Given the description of an element on the screen output the (x, y) to click on. 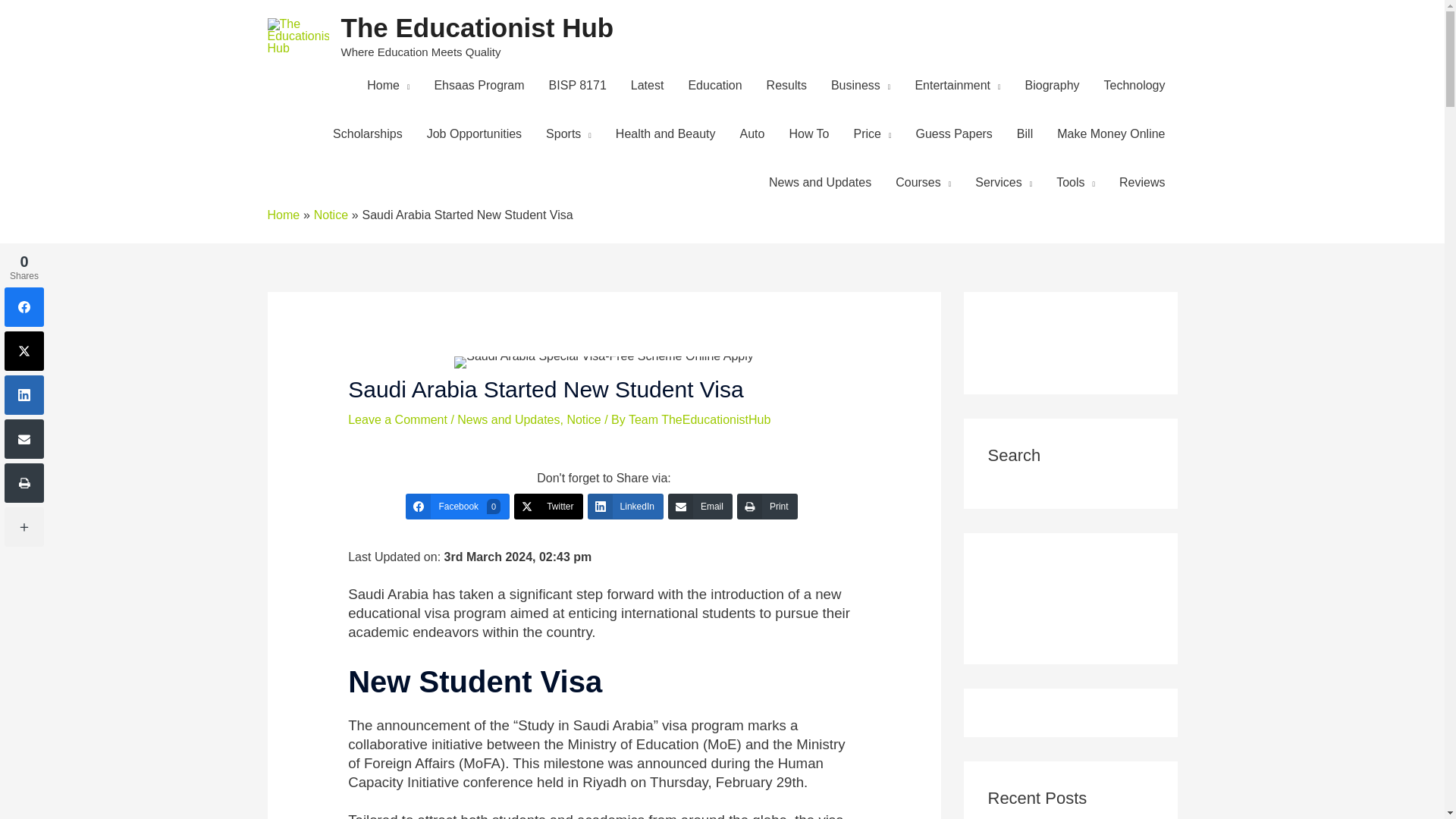
Job Opportunities (474, 133)
Health and Beauty (666, 133)
Sports (569, 133)
Entertainment (956, 84)
Home (388, 84)
Business (860, 84)
BISP 8171 (577, 84)
Education (714, 84)
The Educationist Hub (477, 27)
Auto (752, 133)
